Given the description of an element on the screen output the (x, y) to click on. 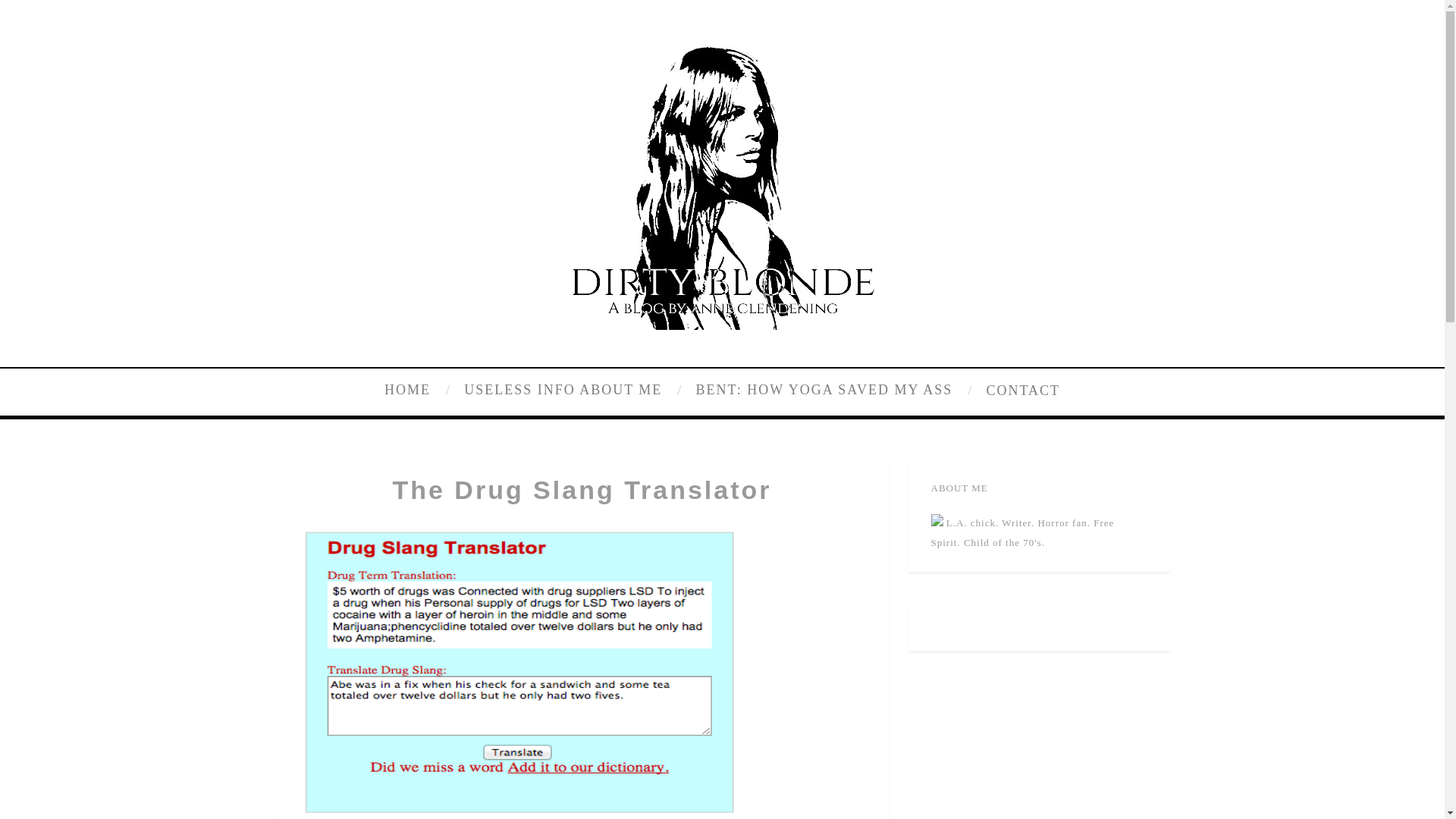
CONTACT (1019, 389)
BENT: HOW YOGA SAVED MY ASS (831, 389)
HOME (418, 389)
USELESS INFO ABOUT ME (570, 389)
